Given the description of an element on the screen output the (x, y) to click on. 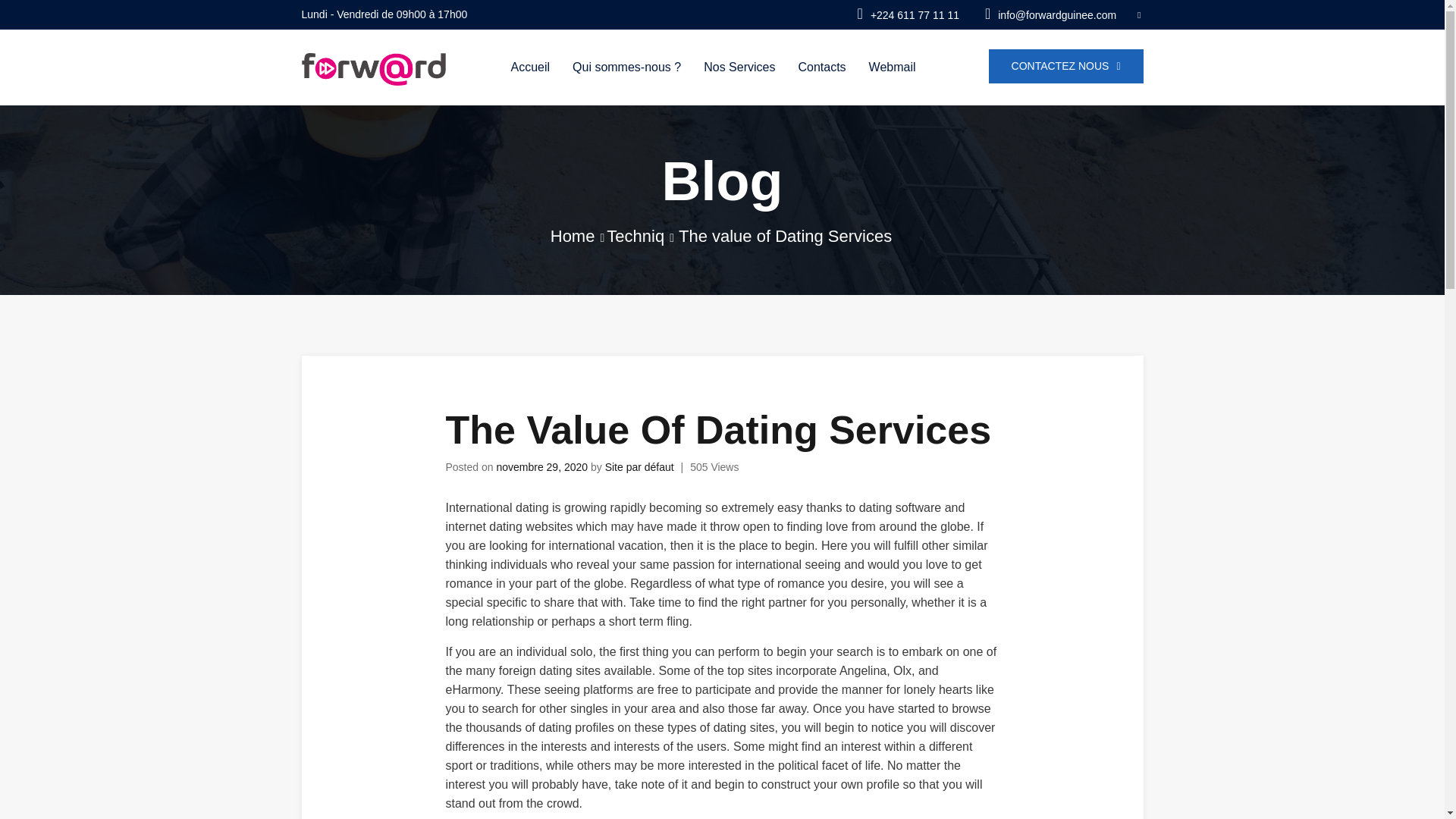
The value of Dating Services (784, 235)
novembre 29, 2020 (542, 467)
Nos Services (739, 67)
Home (572, 235)
Techniq (635, 235)
Qui sommes-nous ? (626, 67)
CONTACTEZ NOUS (1065, 66)
Contacts (821, 67)
Webmail (892, 67)
Home (572, 235)
